Given the description of an element on the screen output the (x, y) to click on. 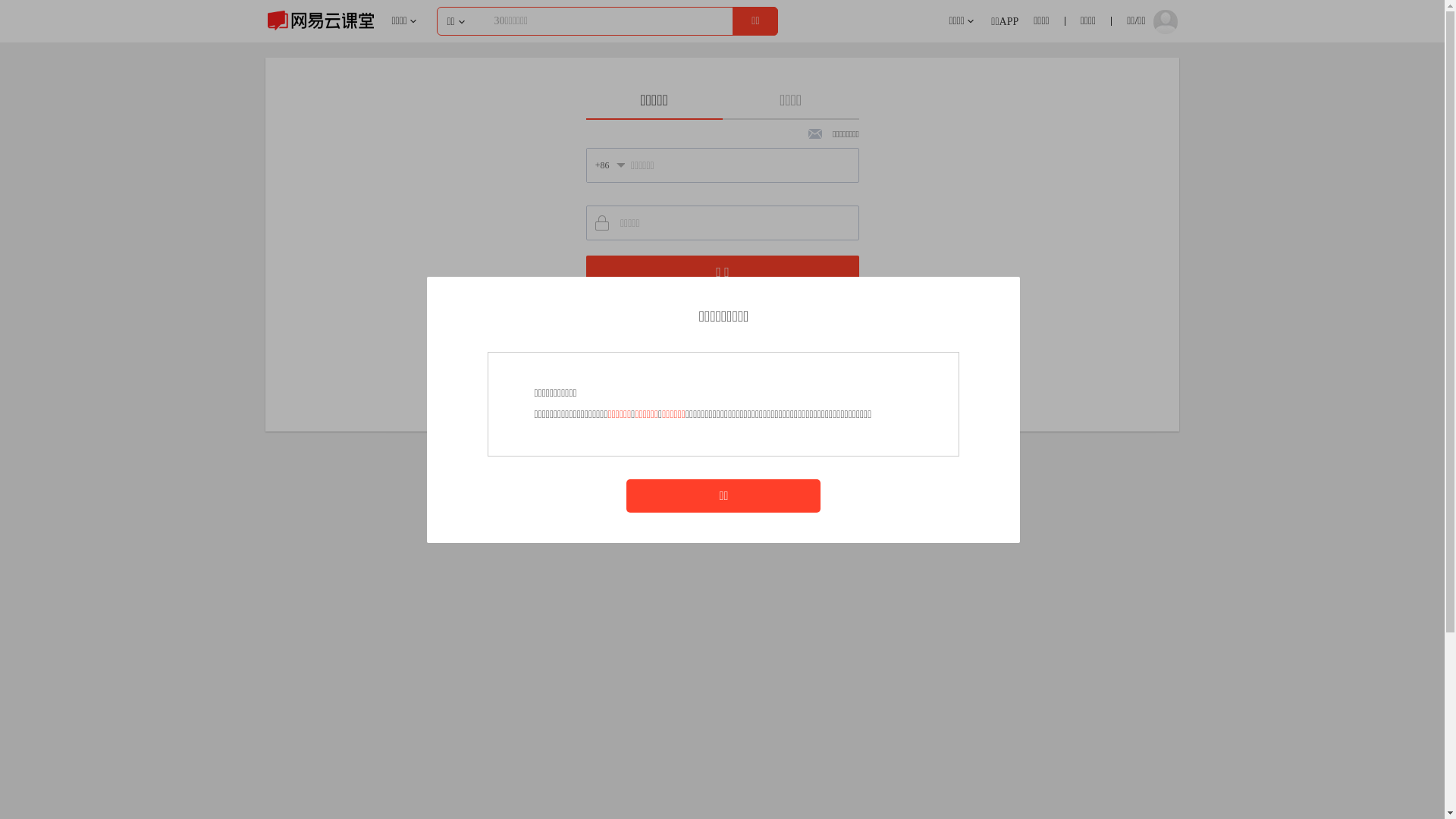
QQ Element type: text (740, 355)
